Given the description of an element on the screen output the (x, y) to click on. 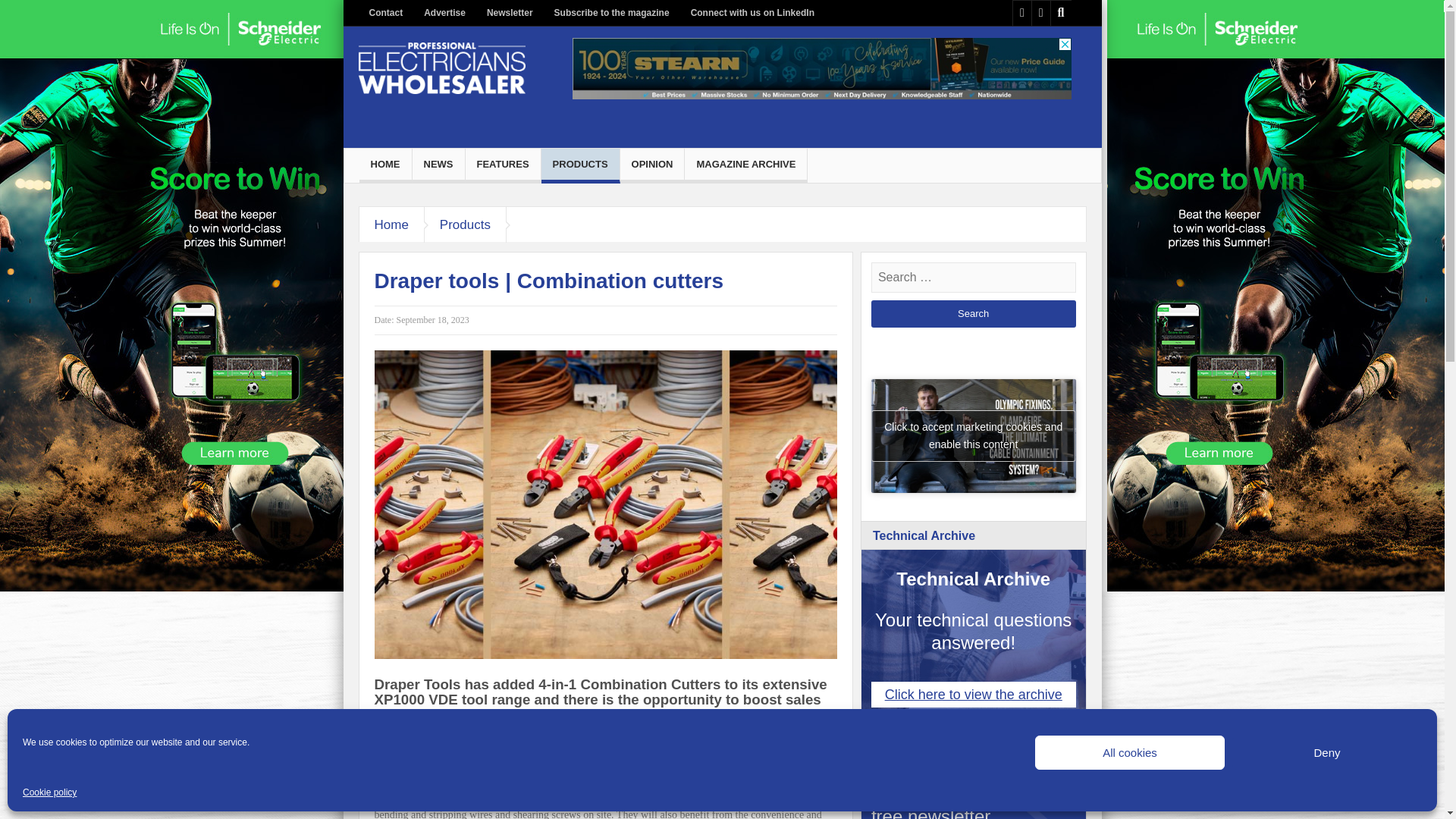
FEATURES (502, 163)
Home (392, 224)
Subscribe to the magazine (611, 13)
All cookies (1129, 752)
OPINION (652, 163)
Search (972, 313)
HOME (385, 163)
Cookie policy (50, 792)
Contact (385, 13)
Search (972, 313)
Advertise (444, 13)
Deny (1326, 752)
Products (465, 224)
Connect with us on LinkedIn (752, 13)
PRODUCTS (580, 163)
